Given the description of an element on the screen output the (x, y) to click on. 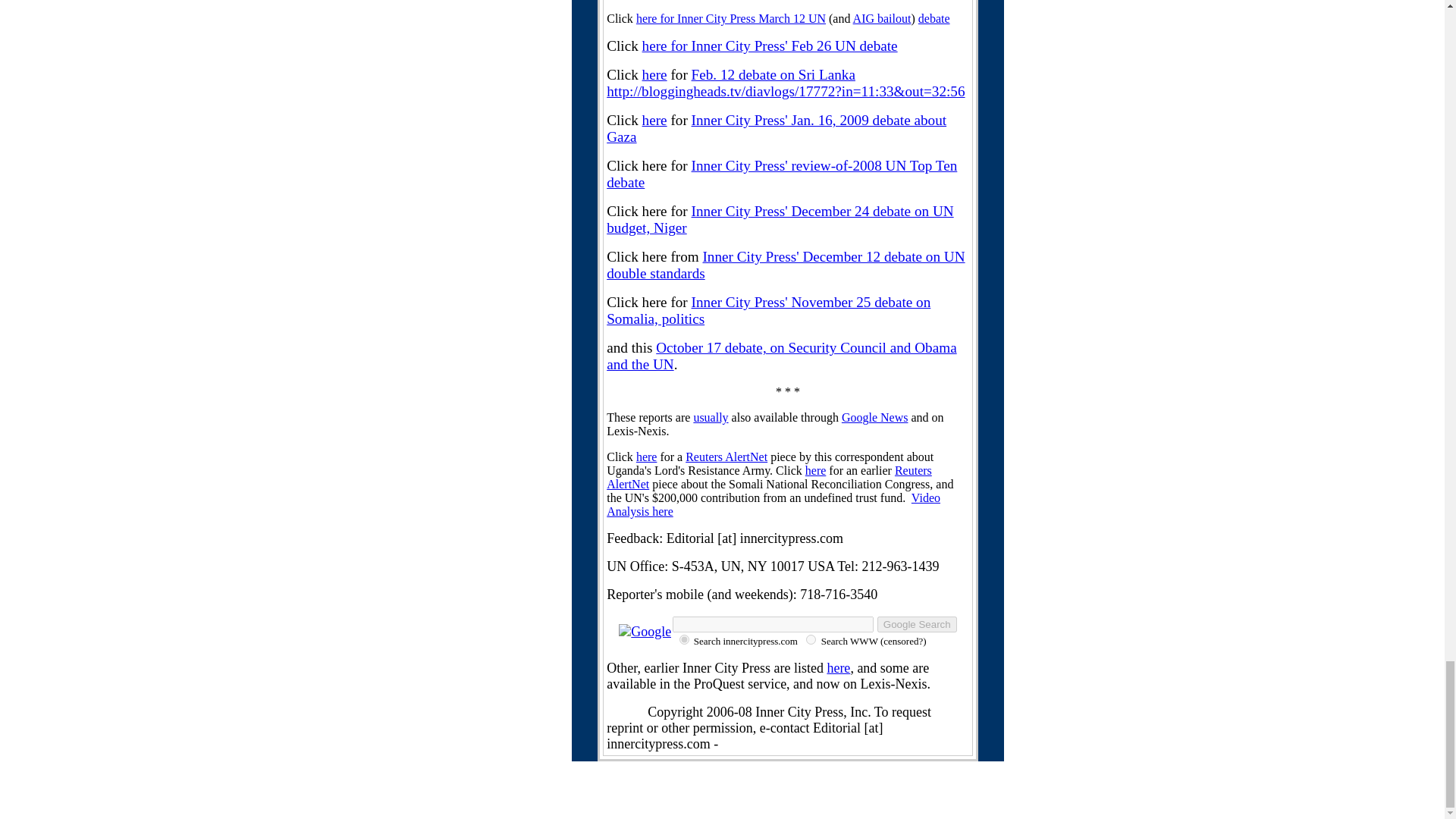
innercitypress.com (683, 639)
Google Search (916, 624)
